Given the description of an element on the screen output the (x, y) to click on. 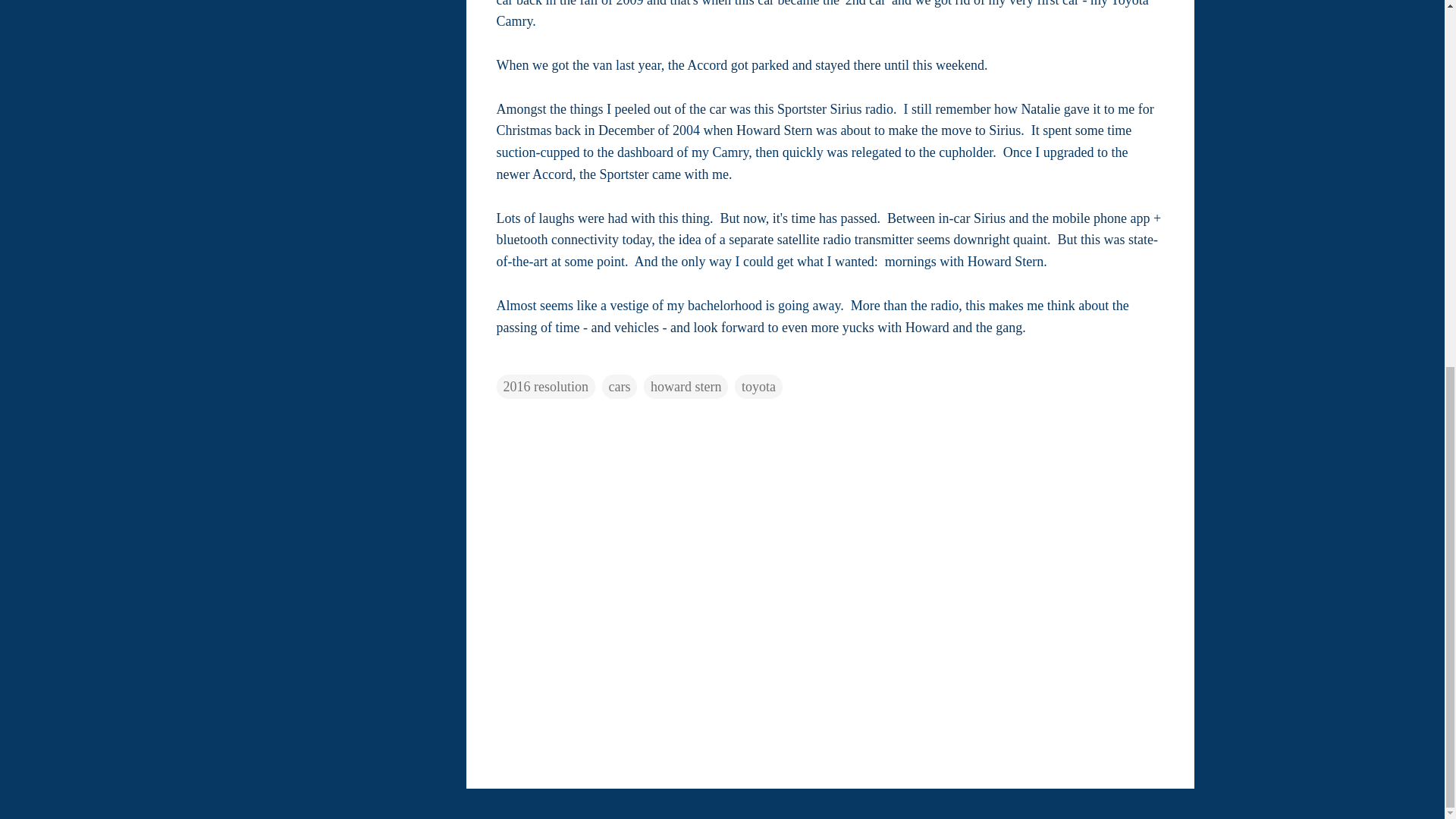
2016 resolution (545, 386)
cars (619, 386)
toyota (759, 386)
howard stern (685, 386)
